Given the description of an element on the screen output the (x, y) to click on. 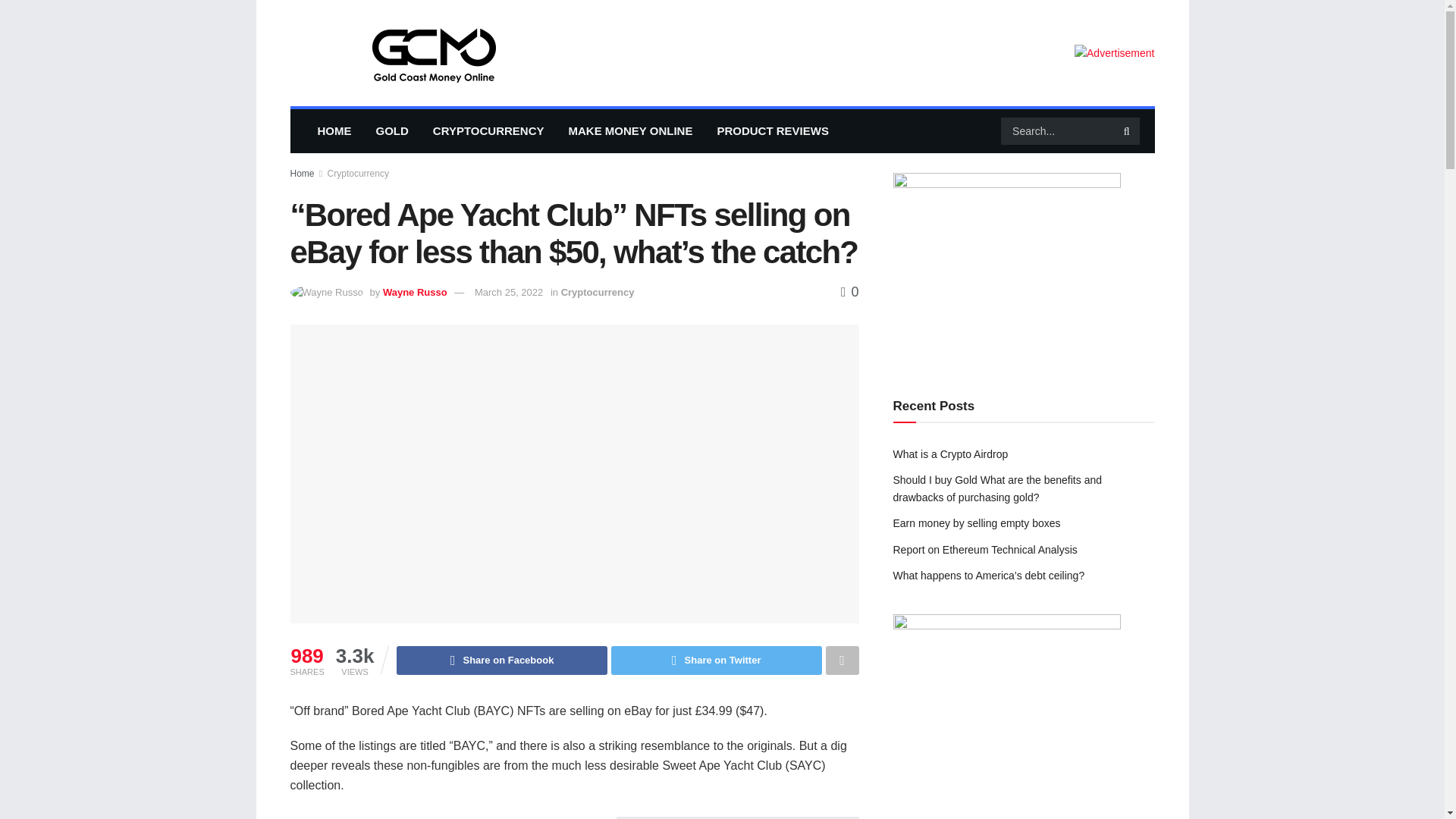
0 (850, 291)
PRODUCT REVIEWS (772, 130)
Share on Twitter (716, 660)
Home (301, 173)
Wayne Russo (414, 292)
HOME (333, 130)
Share on Facebook (501, 660)
GOLD (392, 130)
Cryptocurrency (597, 292)
March 25, 2022 (508, 292)
